Given the description of an element on the screen output the (x, y) to click on. 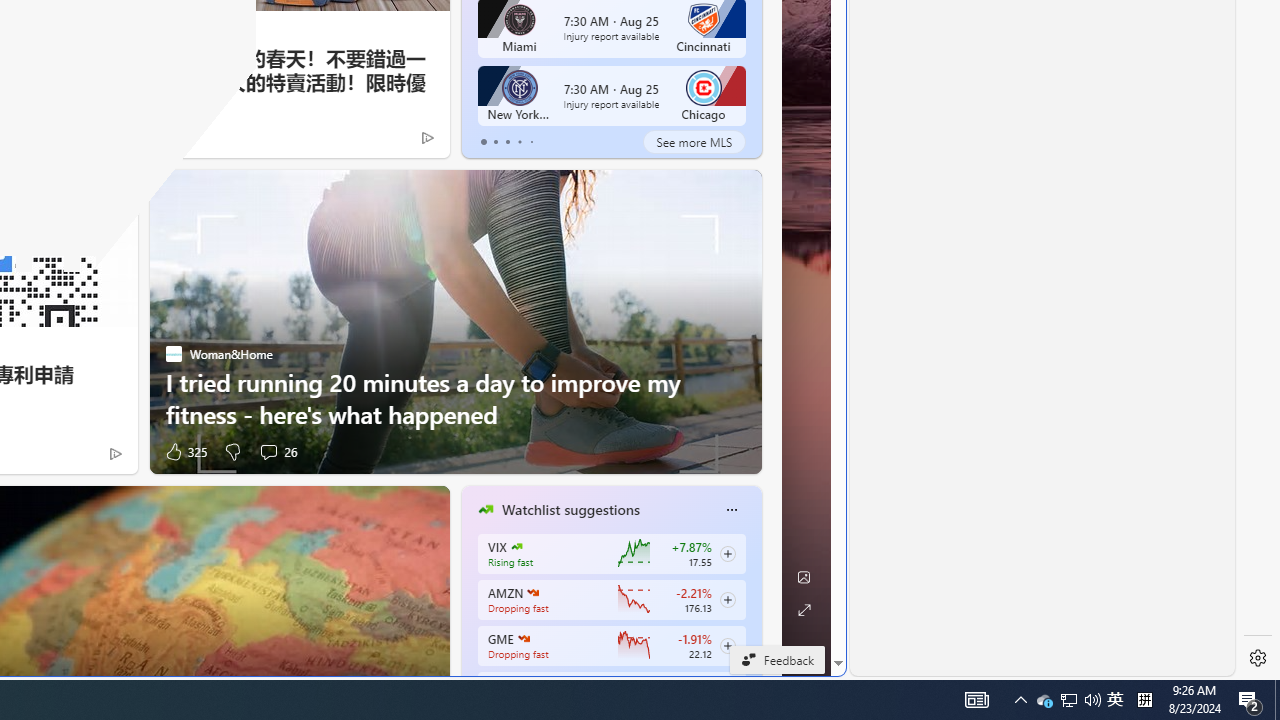
Watchlist suggestions (570, 510)
Class: follow-button  m (727, 645)
GAMESTOP CORP. (523, 638)
View comments 26 Comment (268, 452)
Expand background (803, 610)
Edit Background (803, 577)
tab-2 (507, 142)
